Given the description of an element on the screen output the (x, y) to click on. 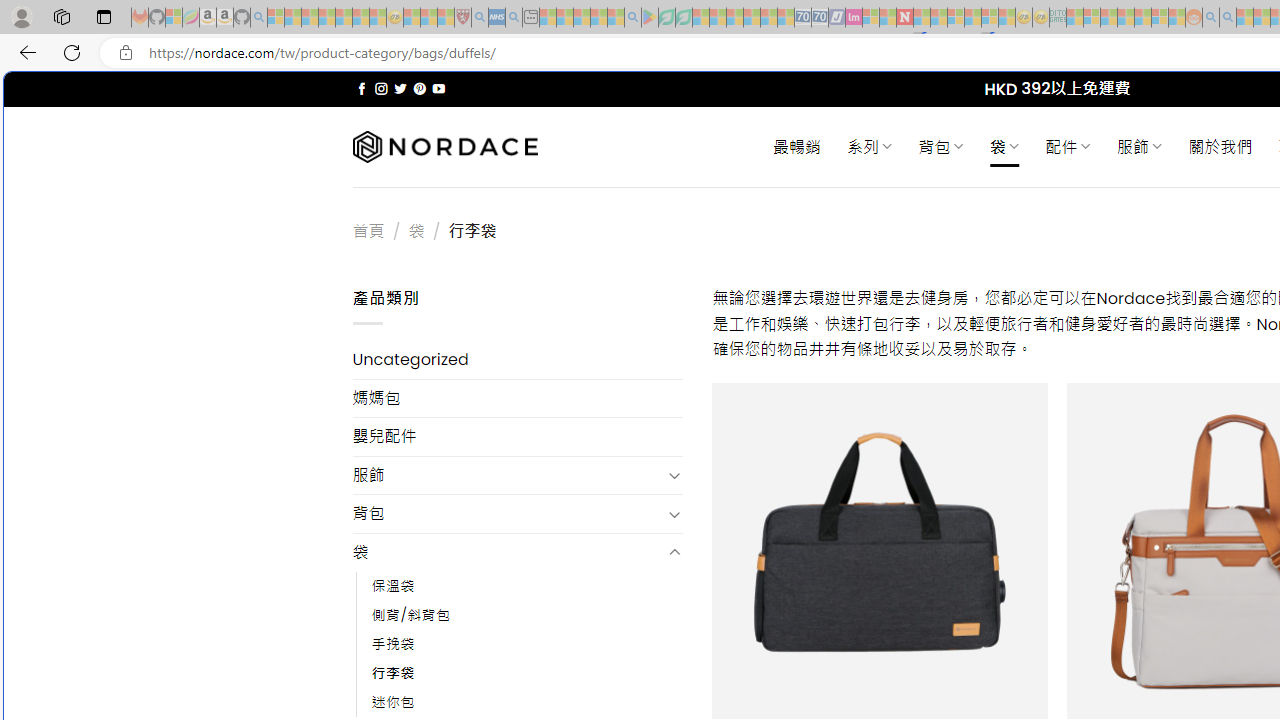
Bluey: Let's Play! - Apps on Google Play - Sleeping (649, 17)
Local - MSN - Sleeping (445, 17)
Expert Portfolios - Sleeping (1125, 17)
